Given the description of an element on the screen output the (x, y) to click on. 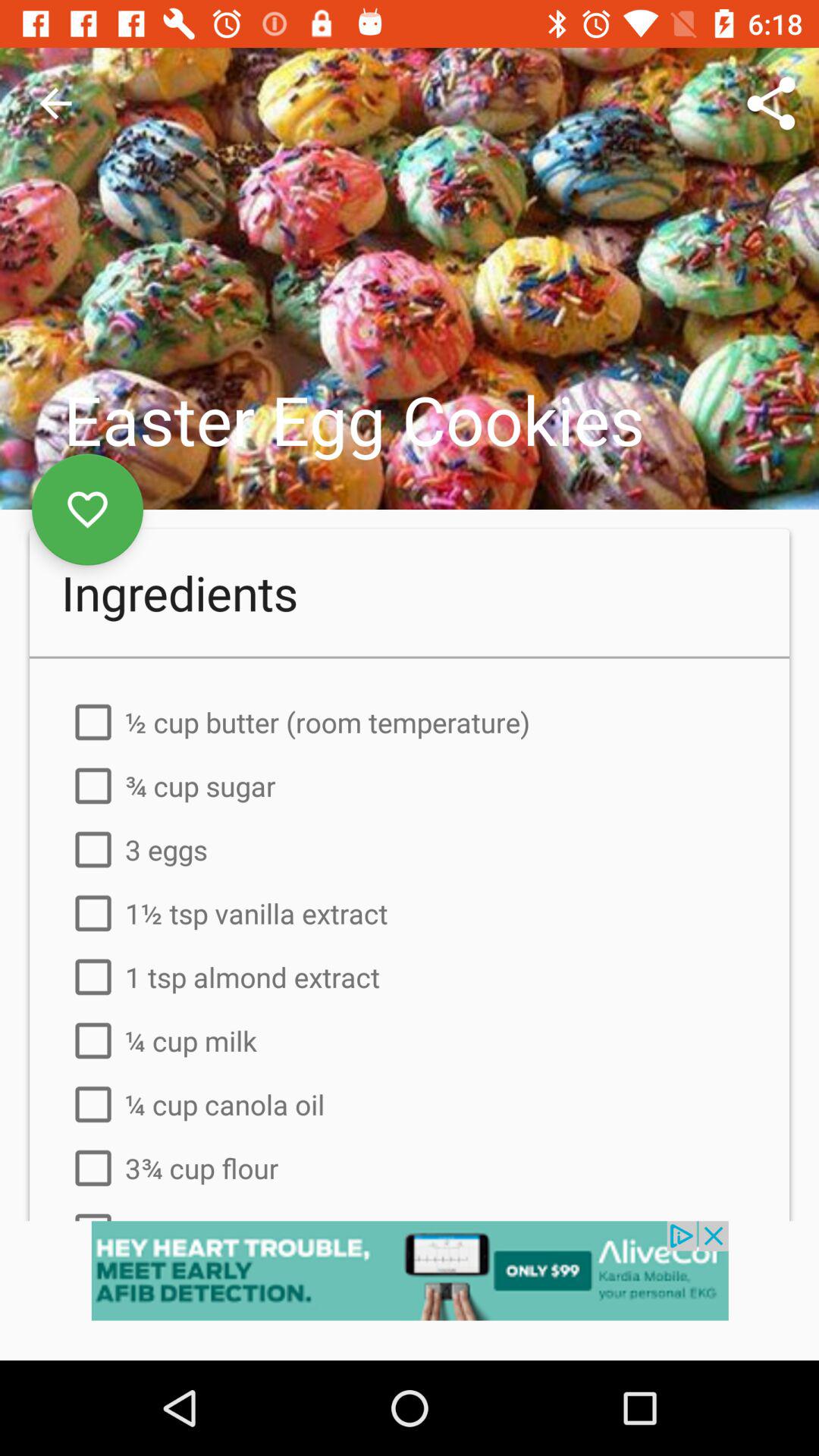
select advertisement (409, 1290)
